Given the description of an element on the screen output the (x, y) to click on. 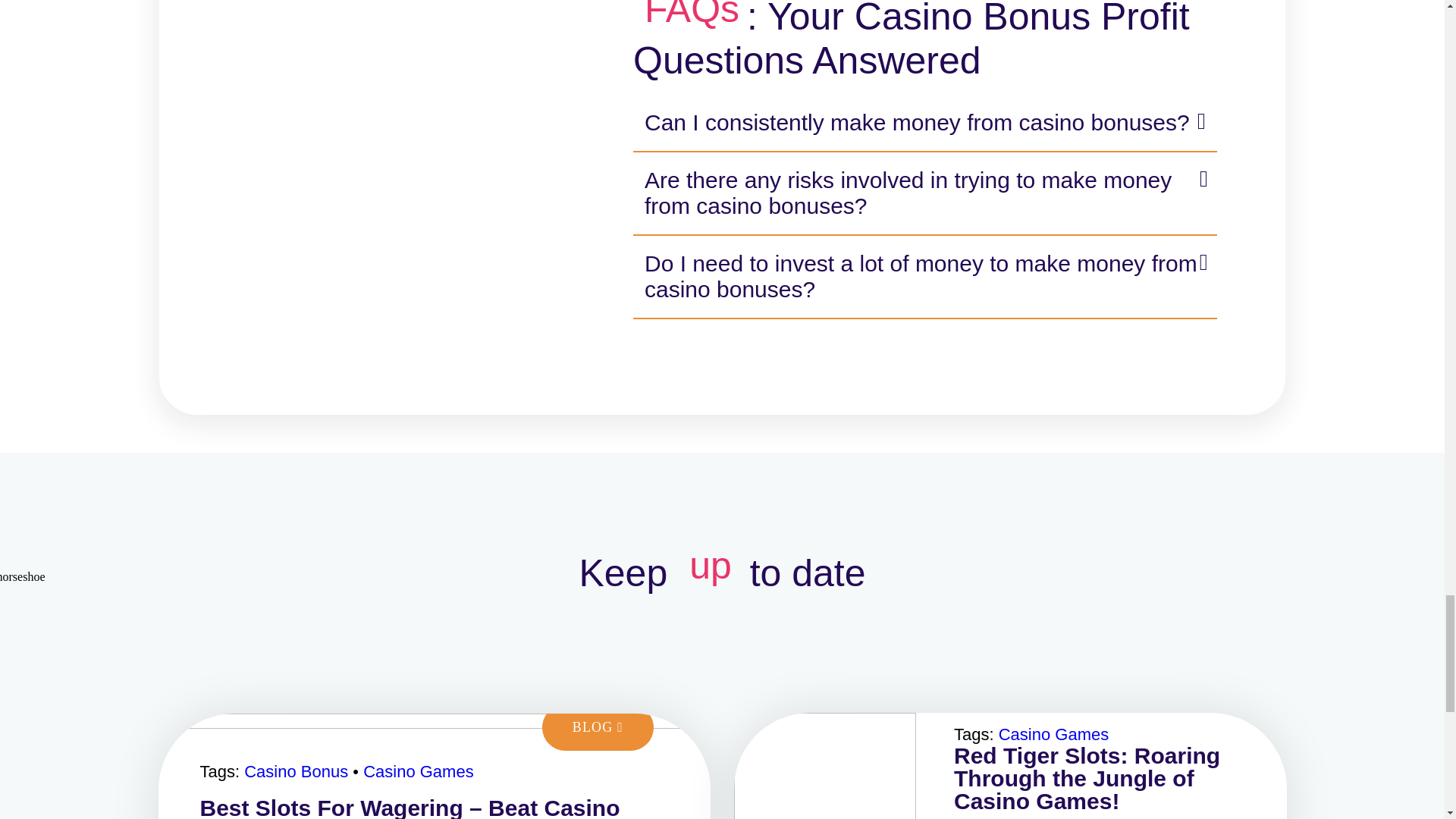
Casino Bonus (295, 771)
BLOG (597, 727)
Casino Games (418, 771)
Can I consistently make money from casino bonuses? (925, 123)
